Given the description of an element on the screen output the (x, y) to click on. 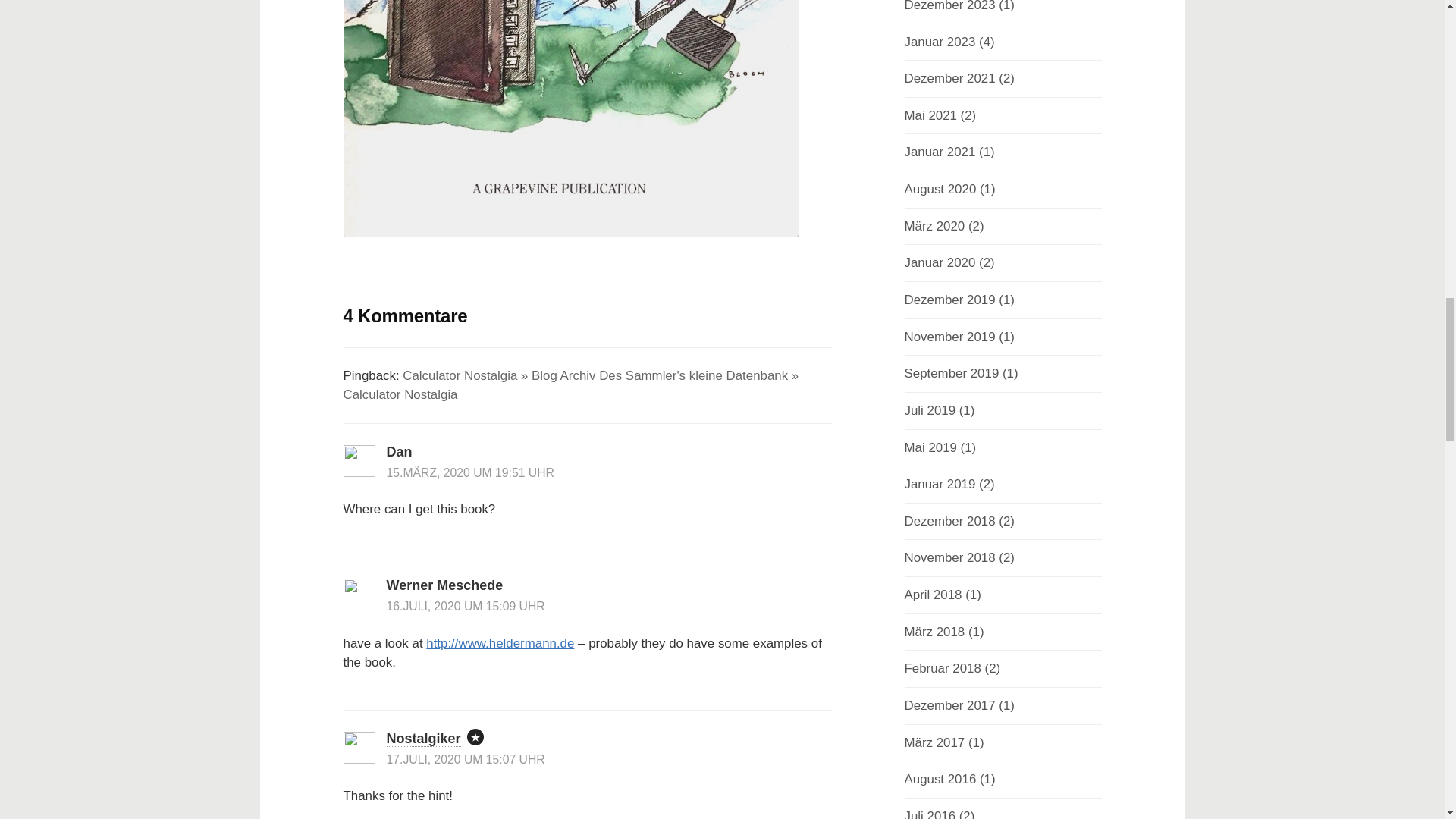
17.JULI, 2020 UM 15:07 UHR (465, 758)
Nostalgiker (424, 738)
16.JULI, 2020 UM 15:09 UHR (465, 605)
